Given the description of an element on the screen output the (x, y) to click on. 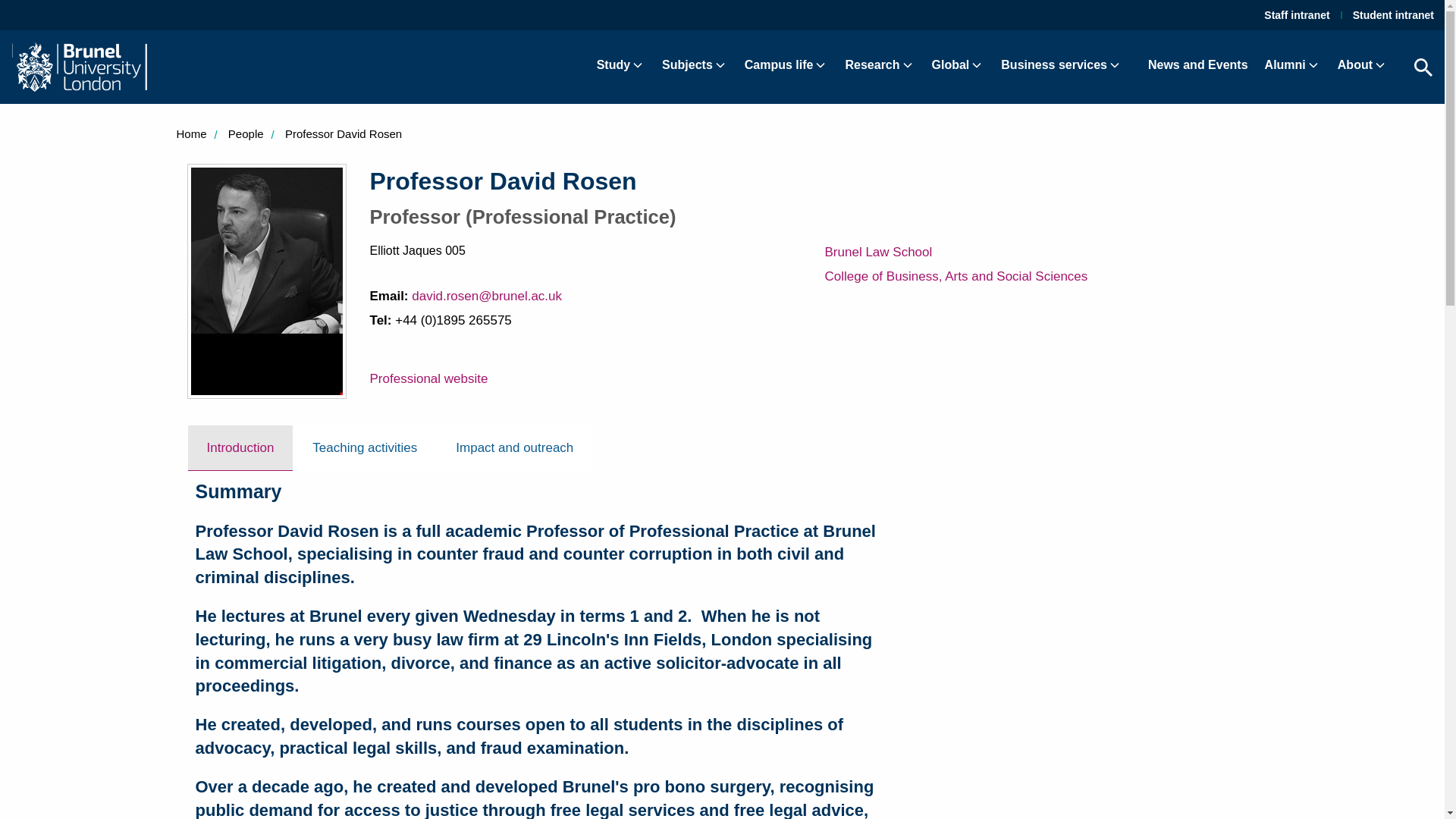
Staff intranet (1296, 15)
Skip to main content (19, 14)
Student intranet (1393, 15)
